Given the description of an element on the screen output the (x, y) to click on. 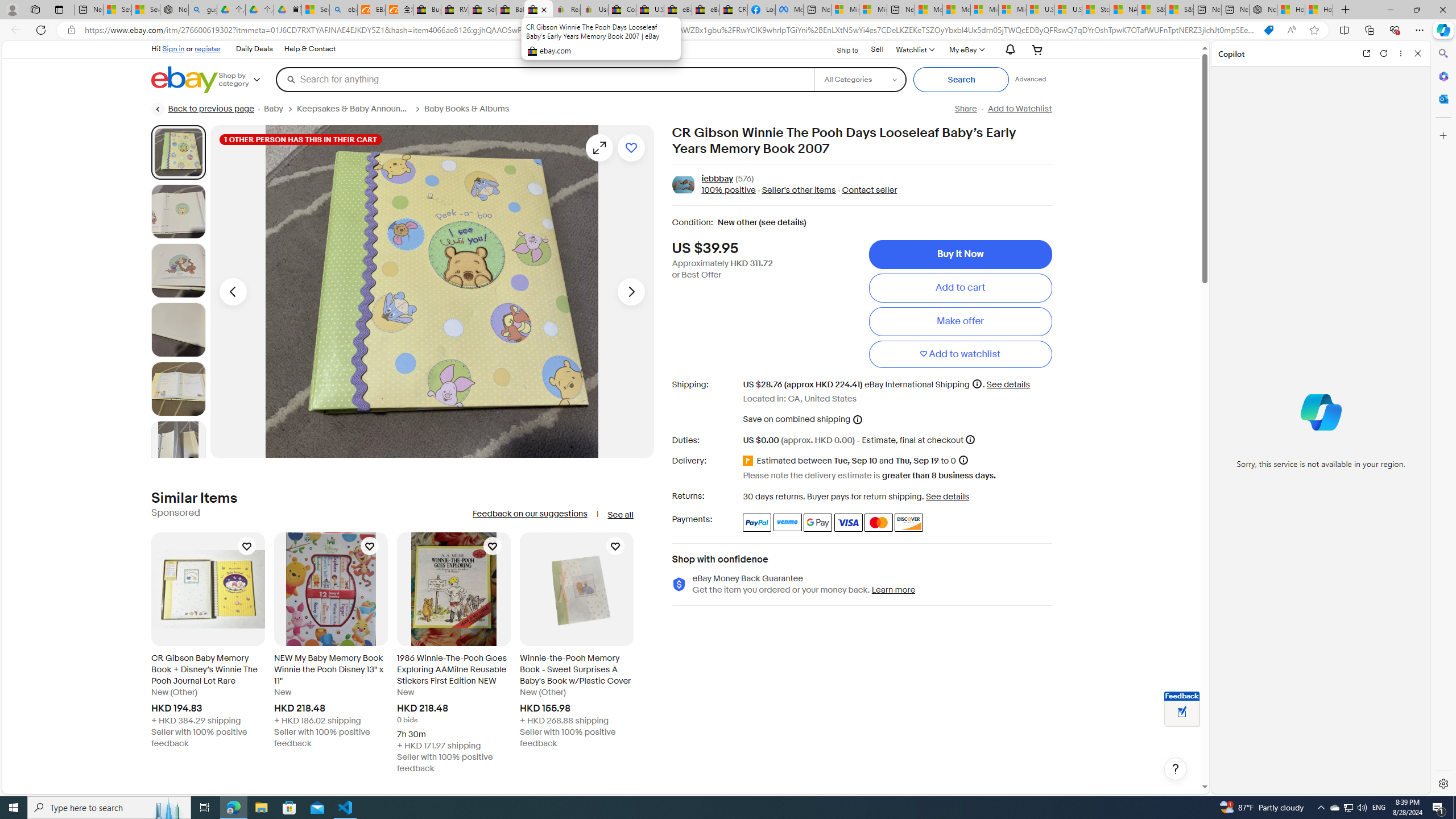
iebbbay (717, 179)
Help & Contact (309, 49)
WatchlistExpand Watch List (914, 49)
Class: ux-action (682, 184)
Picture 4 of 22 (178, 329)
Ship to (839, 50)
eBay Home (184, 79)
Visa (848, 521)
U.S. State Privacy Disclosures - eBay Inc. (649, 9)
Picture 1 of 22 (177, 152)
